Given the description of an element on the screen output the (x, y) to click on. 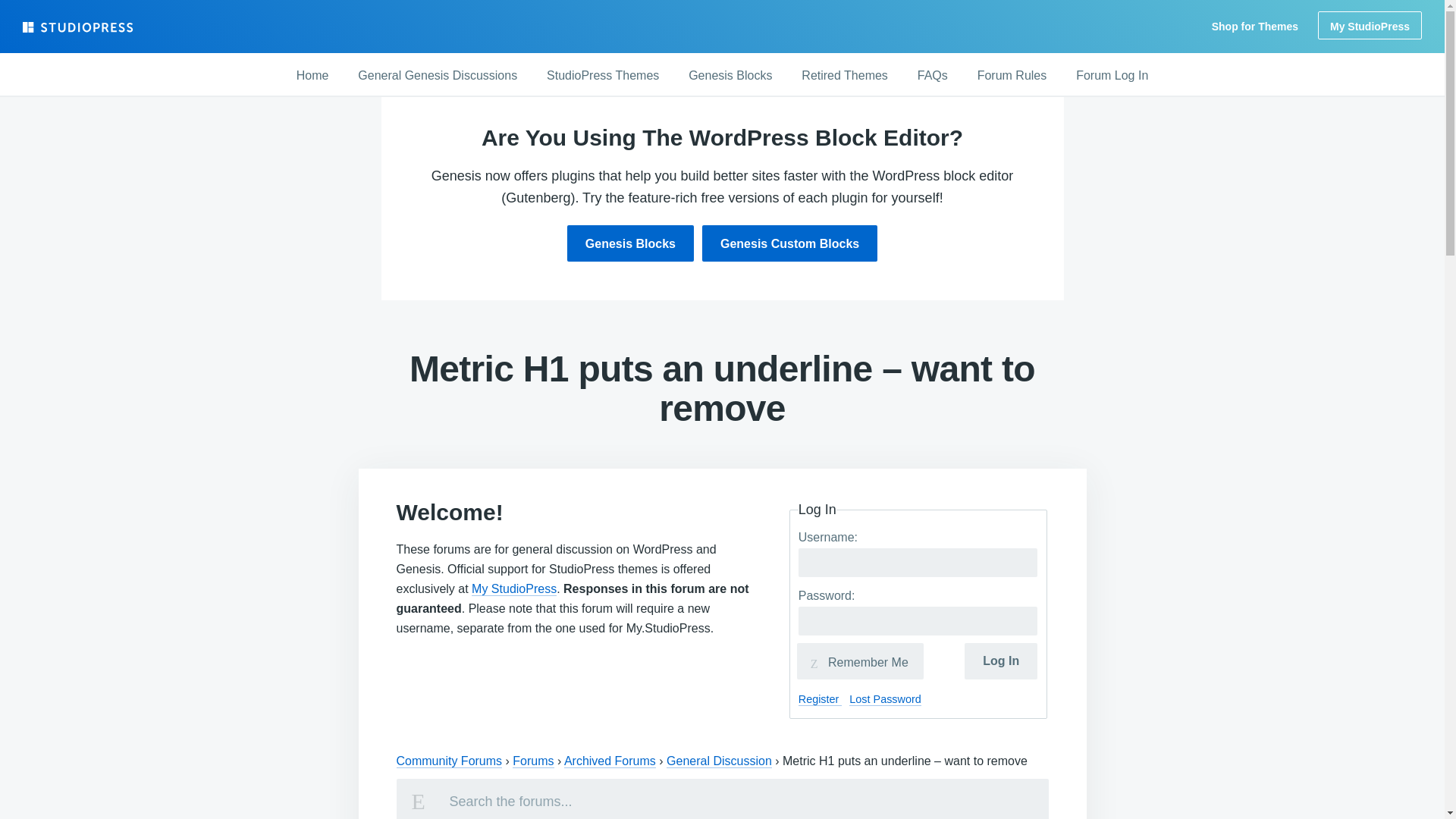
My StudioPress (1369, 25)
Archived Forums (610, 761)
Forum Log In (1112, 75)
StudioPress.com (79, 27)
Genesis Custom Blocks (789, 242)
Home (312, 75)
My StudioPress (513, 589)
General Discussion (718, 761)
Retired Themes (844, 75)
StudioPress Themes (602, 75)
Log In (999, 660)
Forum Rules (1011, 75)
Genesis Blocks (630, 242)
Register (820, 698)
